Given the description of an element on the screen output the (x, y) to click on. 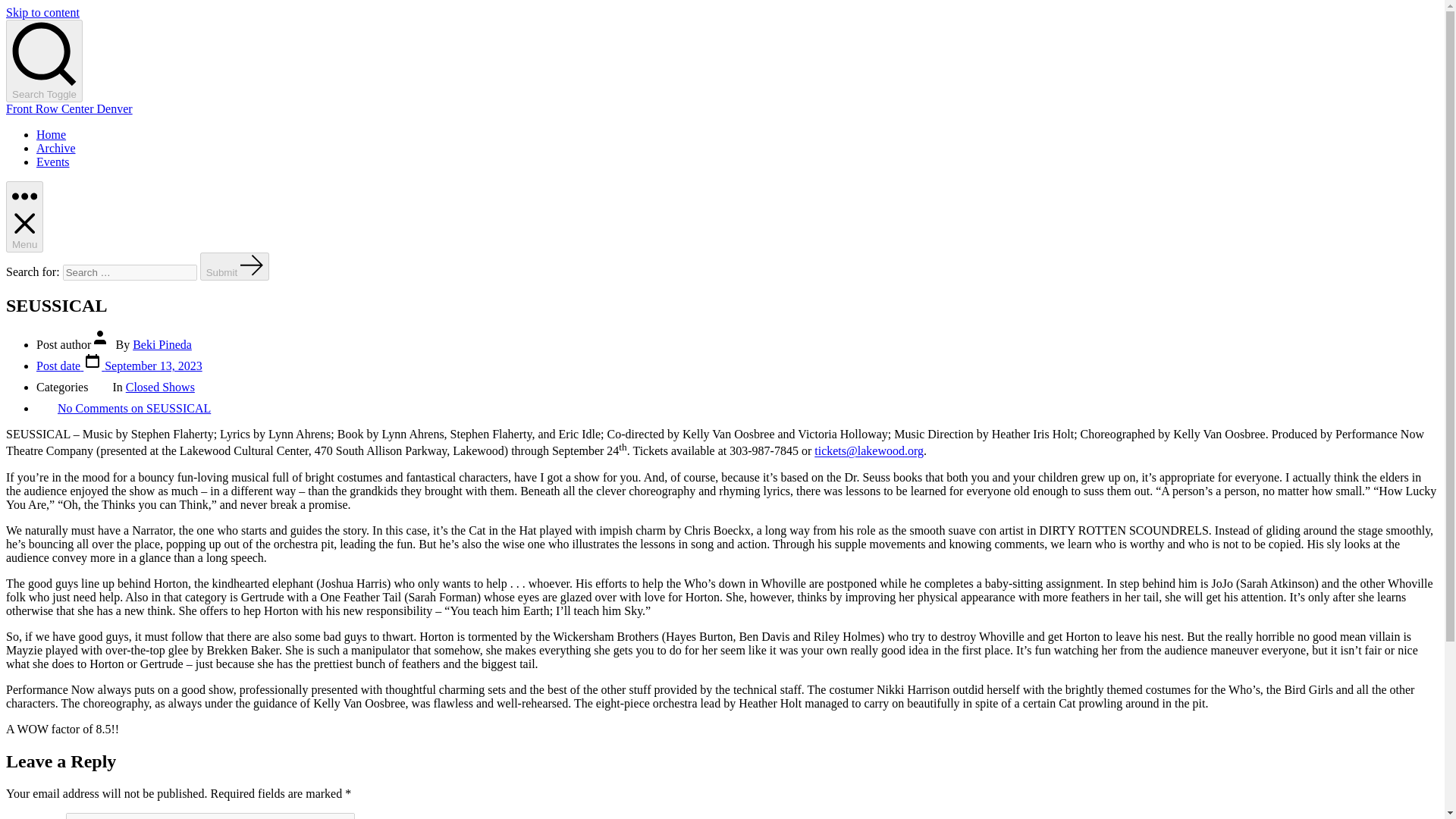
No Comments on SEUSSICAL (134, 408)
Post date September 13, 2023 (119, 365)
Events (52, 161)
Closed Shows (160, 386)
Skip to content (42, 11)
Search Toggle (43, 60)
Beki Pineda (162, 344)
Home (50, 133)
Submit (234, 266)
Front Row Center Denver (68, 108)
